Given the description of an element on the screen output the (x, y) to click on. 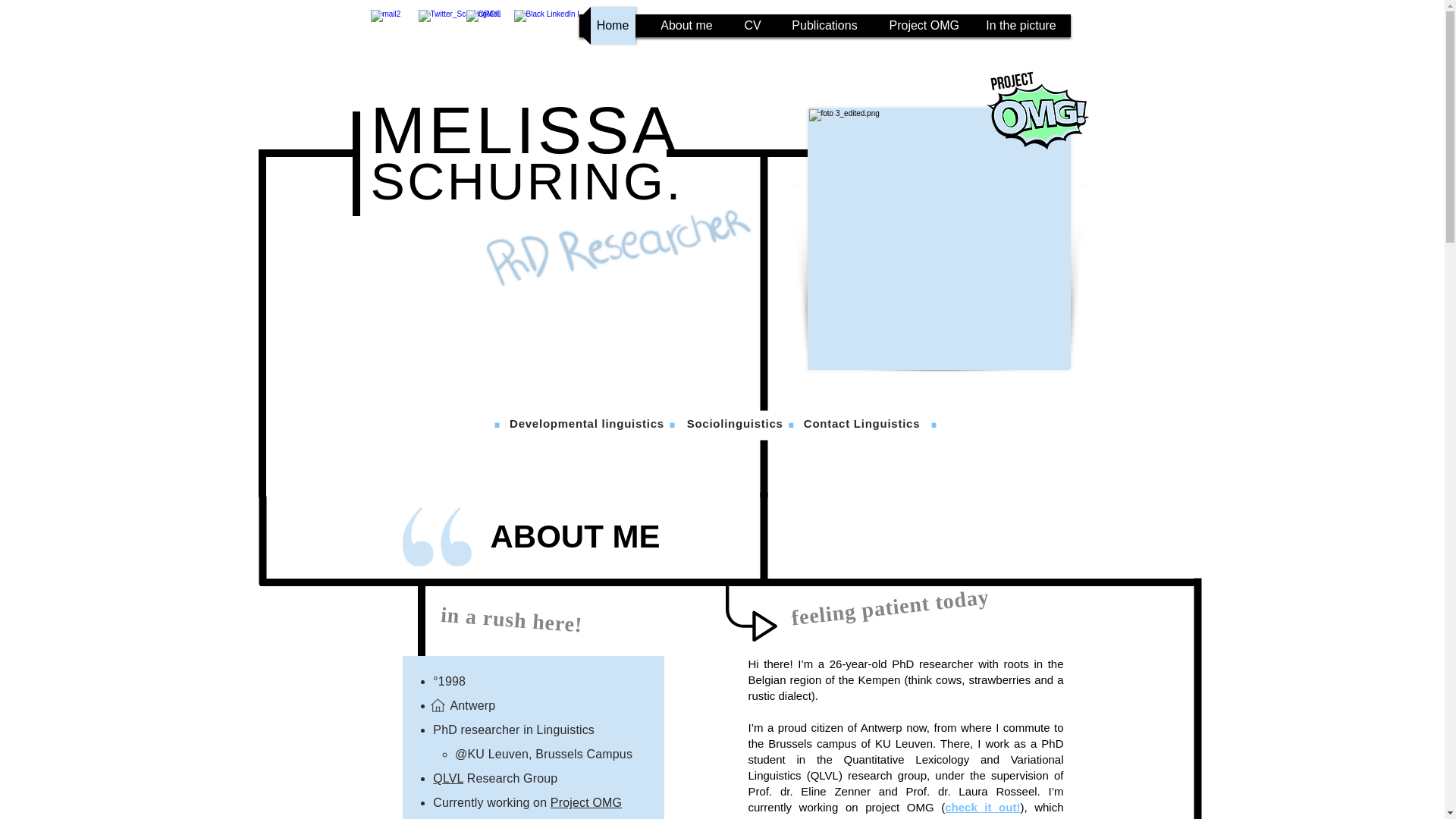
roject OMG (590, 802)
check it out! (982, 807)
Publications (824, 25)
CV (752, 25)
QLVL (447, 778)
About me (686, 25)
In the picture (1021, 25)
Home (612, 25)
Project OMG (921, 25)
